Given the description of an element on the screen output the (x, y) to click on. 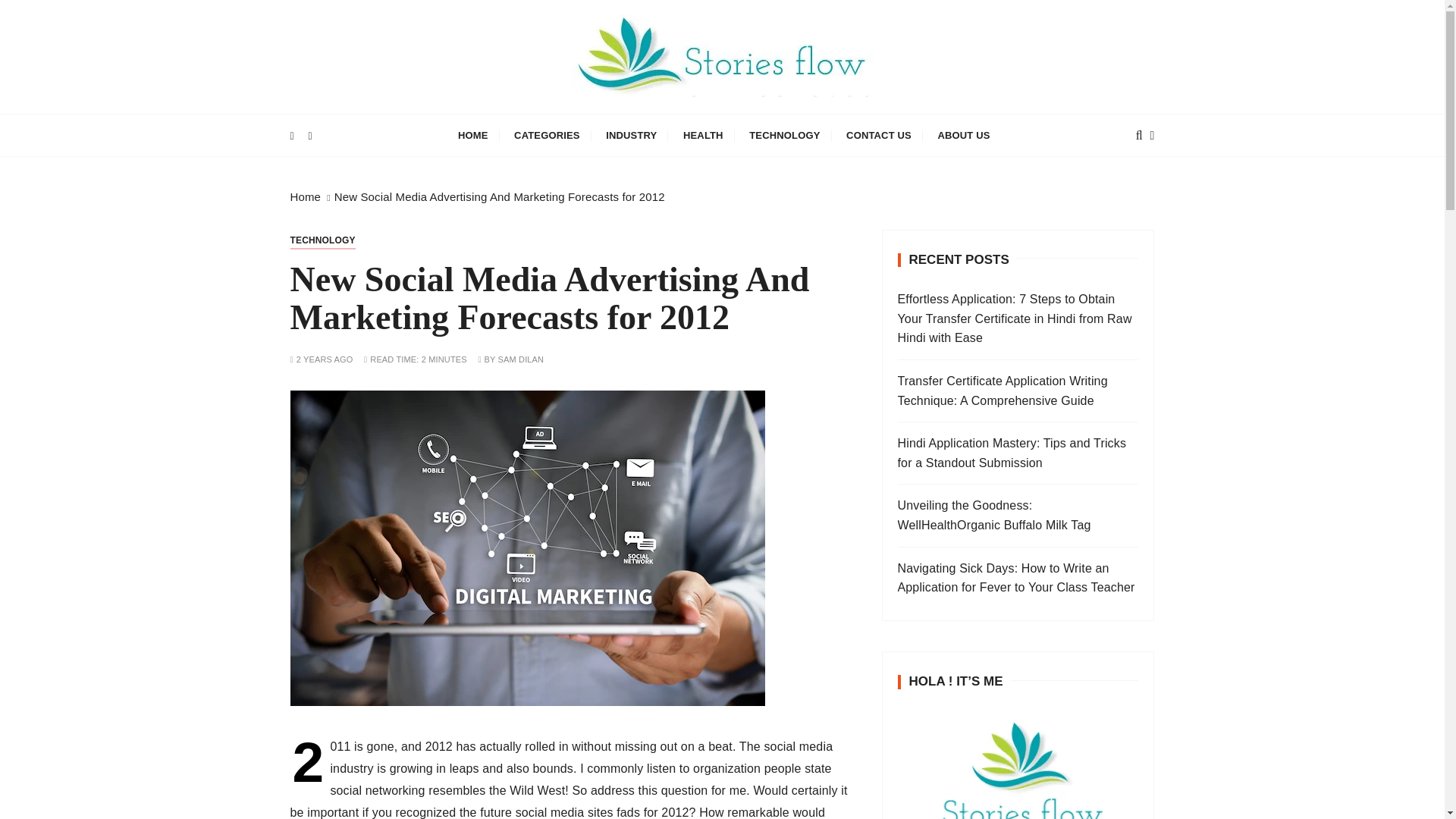
HEALTH (703, 135)
TECHNOLOGY (784, 135)
ABOUT US (963, 135)
CONTACT US (878, 135)
HOME (472, 135)
INDUSTRY (631, 135)
CATEGORIES (546, 135)
